Given the description of an element on the screen output the (x, y) to click on. 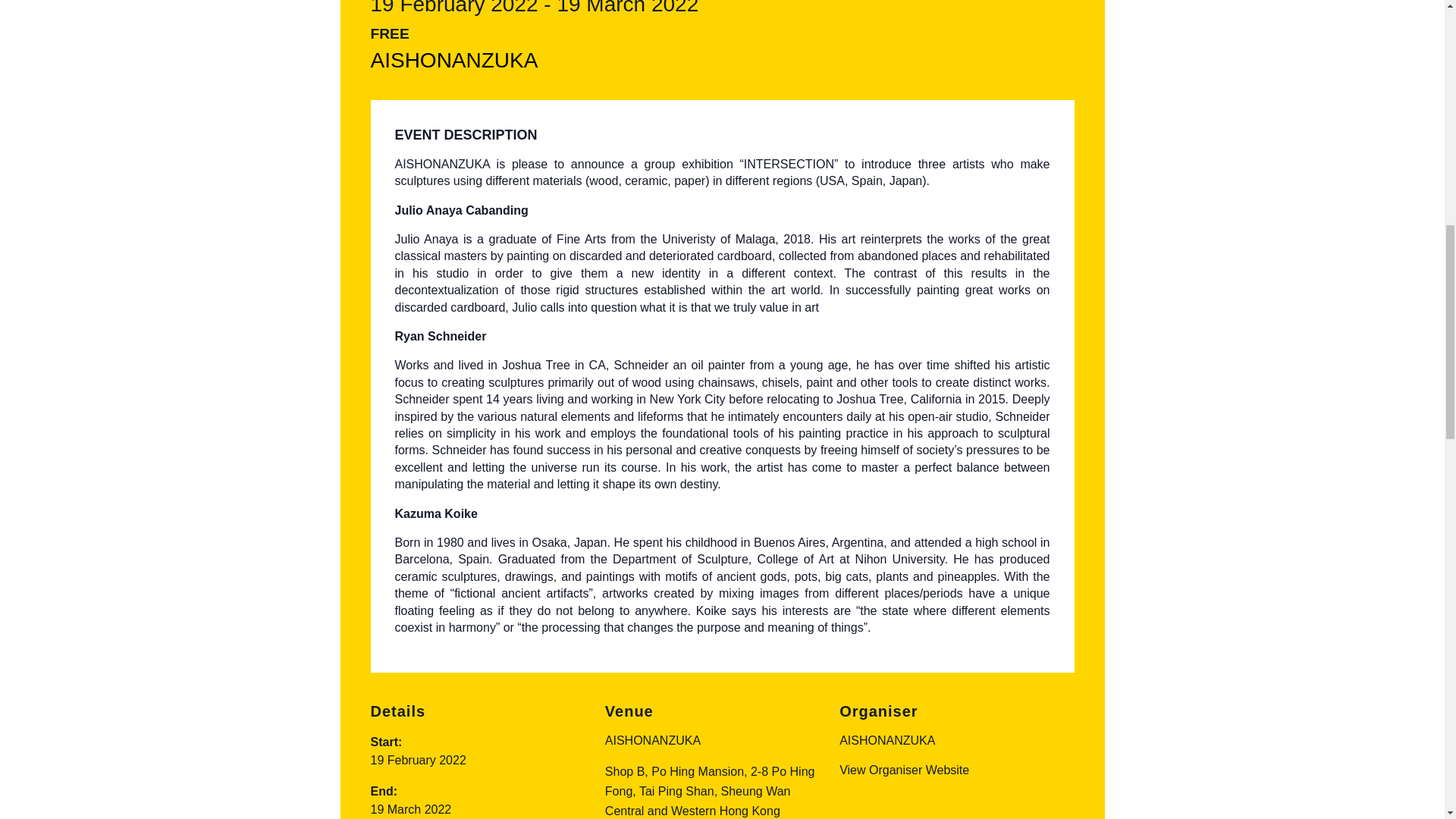
AISHONANZUKA (453, 60)
2022-02-19 (417, 759)
AISHONANZUKA (652, 739)
2022-03-19 (410, 809)
AISHONANZUKA (887, 739)
AISHONANZUKA (887, 739)
View Organiser Website (904, 769)
AISHONANZUKA (453, 60)
Central and Western (660, 810)
